Given the description of an element on the screen output the (x, y) to click on. 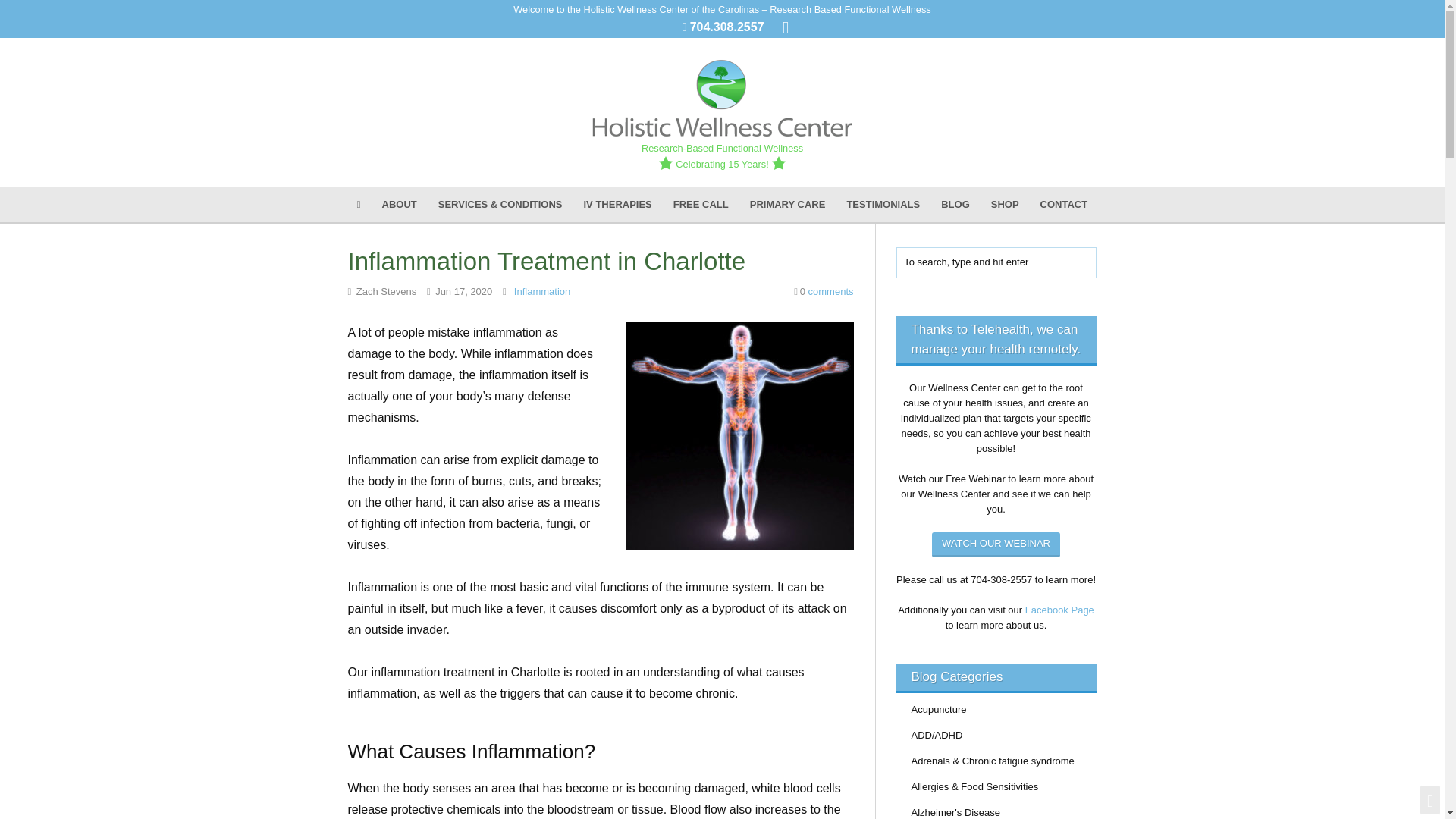
PRIMARY CARE (787, 203)
SHOP (1004, 203)
visit the home page (721, 95)
0 comments (823, 291)
CONTACT (1064, 203)
To search, type and hit enter (996, 263)
ABOUT (399, 203)
FREE CALL (700, 203)
704.308.2557 (727, 26)
IV THERAPIES (617, 203)
